Given the description of an element on the screen output the (x, y) to click on. 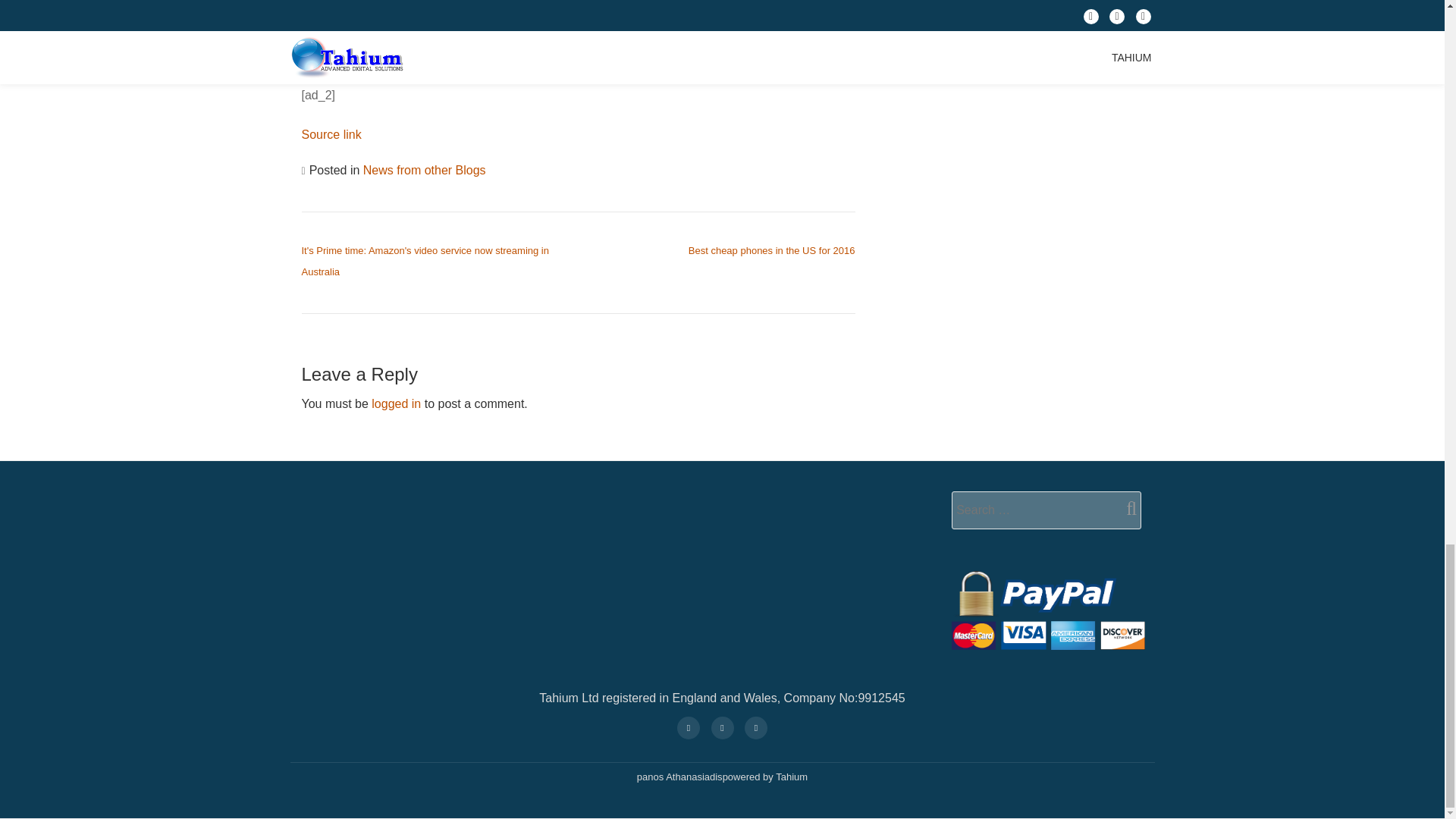
Source link (331, 133)
Search (1125, 507)
logged in (395, 403)
fa-google-plus-square (687, 726)
News from other Blogs (424, 169)
panos Athanasiadis (679, 776)
Search (1125, 507)
fa-twitter (756, 726)
Search (1125, 507)
Best cheap phones in the US for 2016 (772, 250)
Tahium (792, 776)
fa-facebook (721, 726)
